Given the description of an element on the screen output the (x, y) to click on. 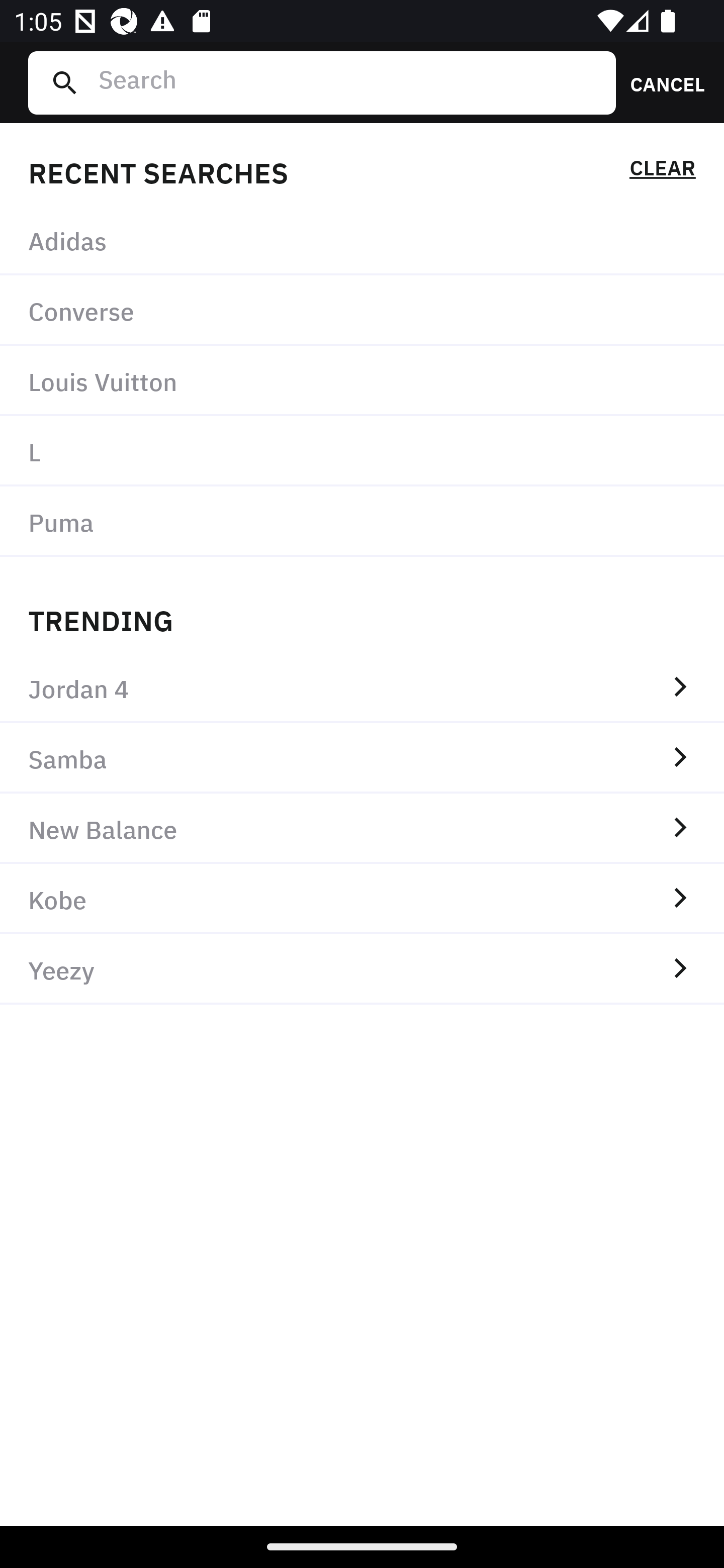
CANCEL (660, 82)
Search (349, 82)
CLEAR (662, 170)
Adidas (362, 240)
Converse (362, 310)
Louis Vuitton (362, 380)
L (362, 450)
Puma (362, 521)
Jordan 4  (362, 687)
Samba  (362, 757)
New Balance  (362, 828)
Kobe  (362, 898)
Yeezy  (362, 969)
